Given the description of an element on the screen output the (x, y) to click on. 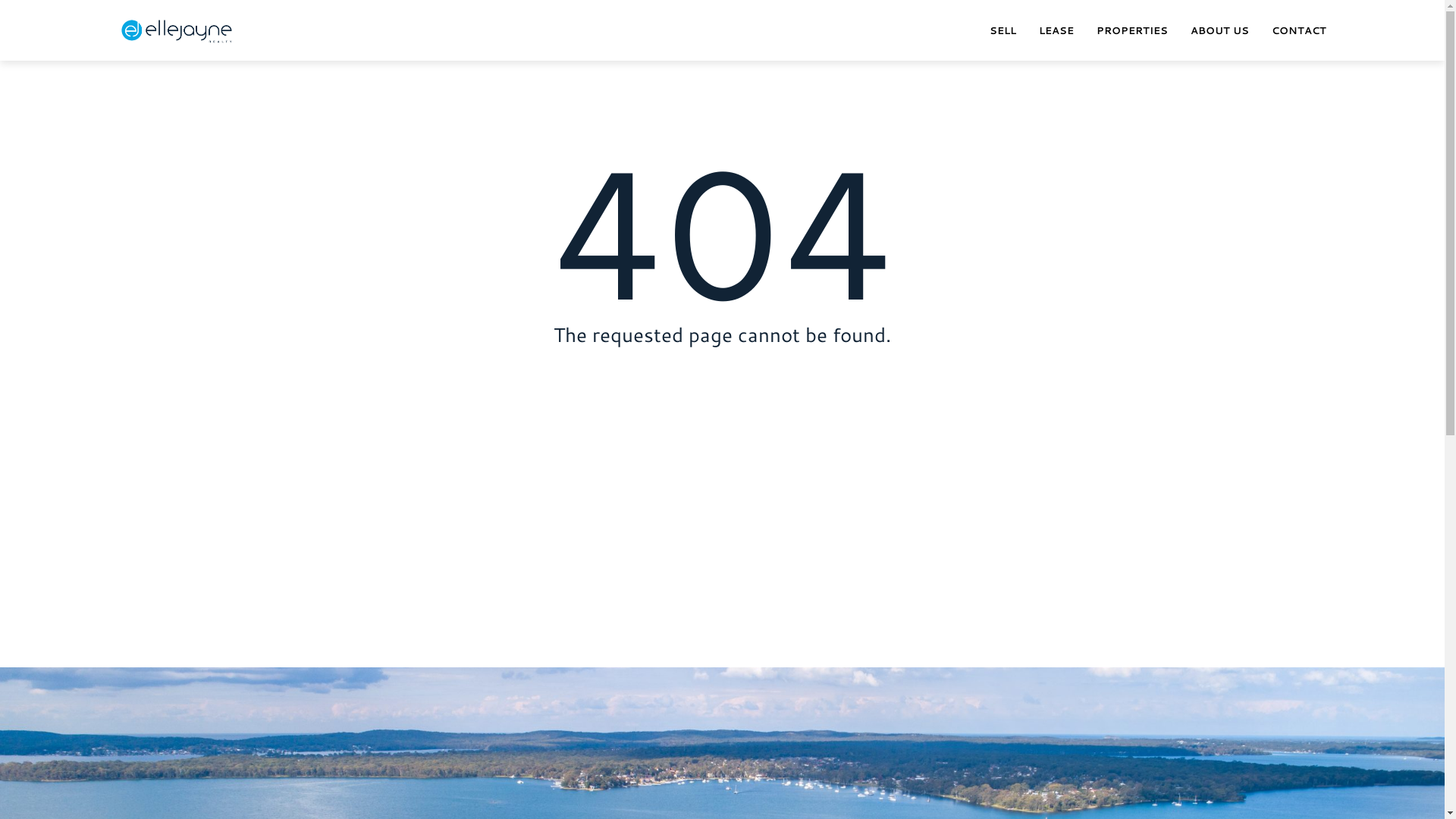
LEASE Element type: text (1056, 30)
SELL Element type: text (1002, 30)
PROPERTIES Element type: text (1131, 30)
CONTACT Element type: text (1298, 30)
ABOUT US Element type: text (1219, 30)
